Given the description of an element on the screen output the (x, y) to click on. 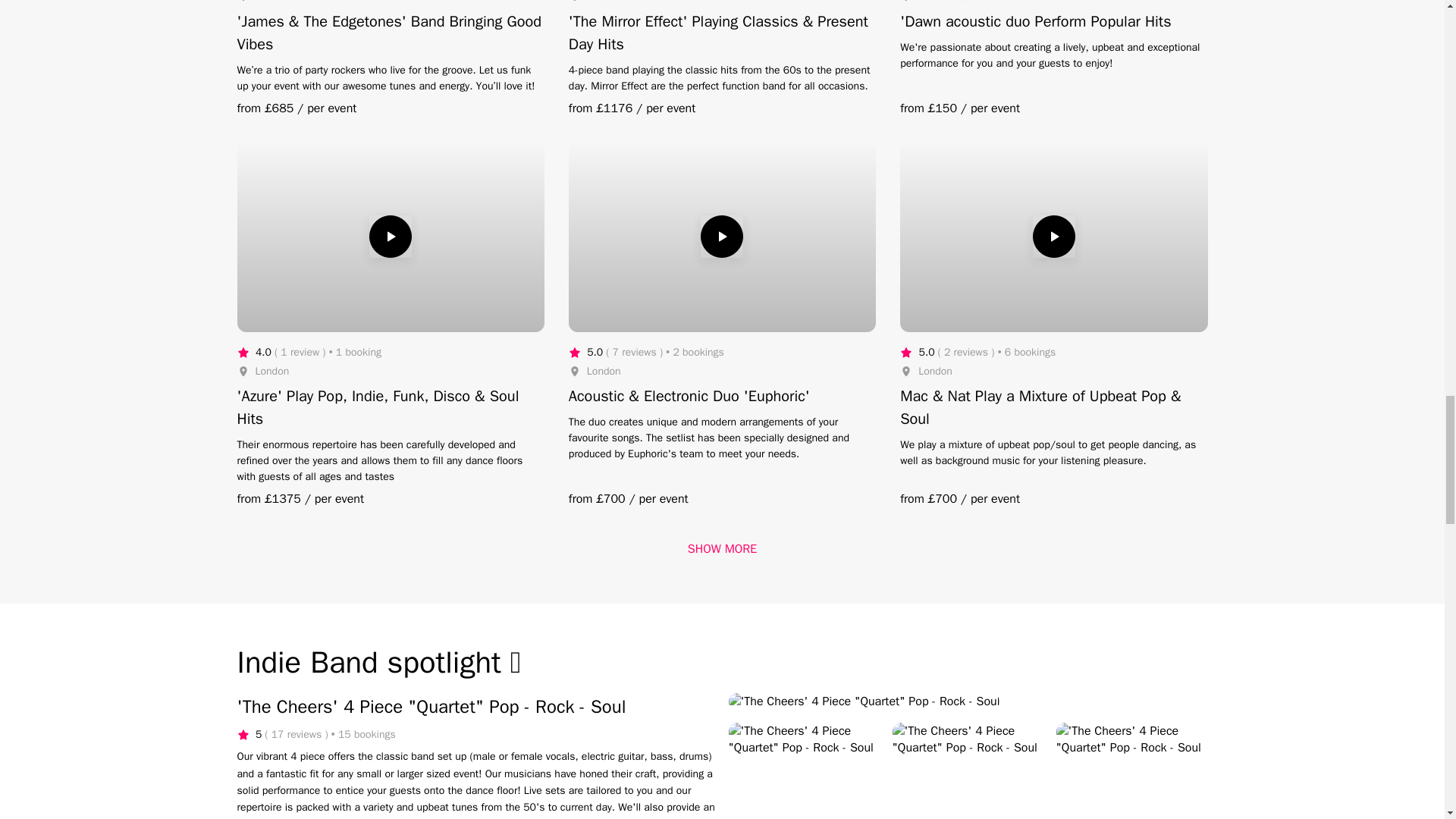
SHOW MORE (721, 548)
